Given the description of an element on the screen output the (x, y) to click on. 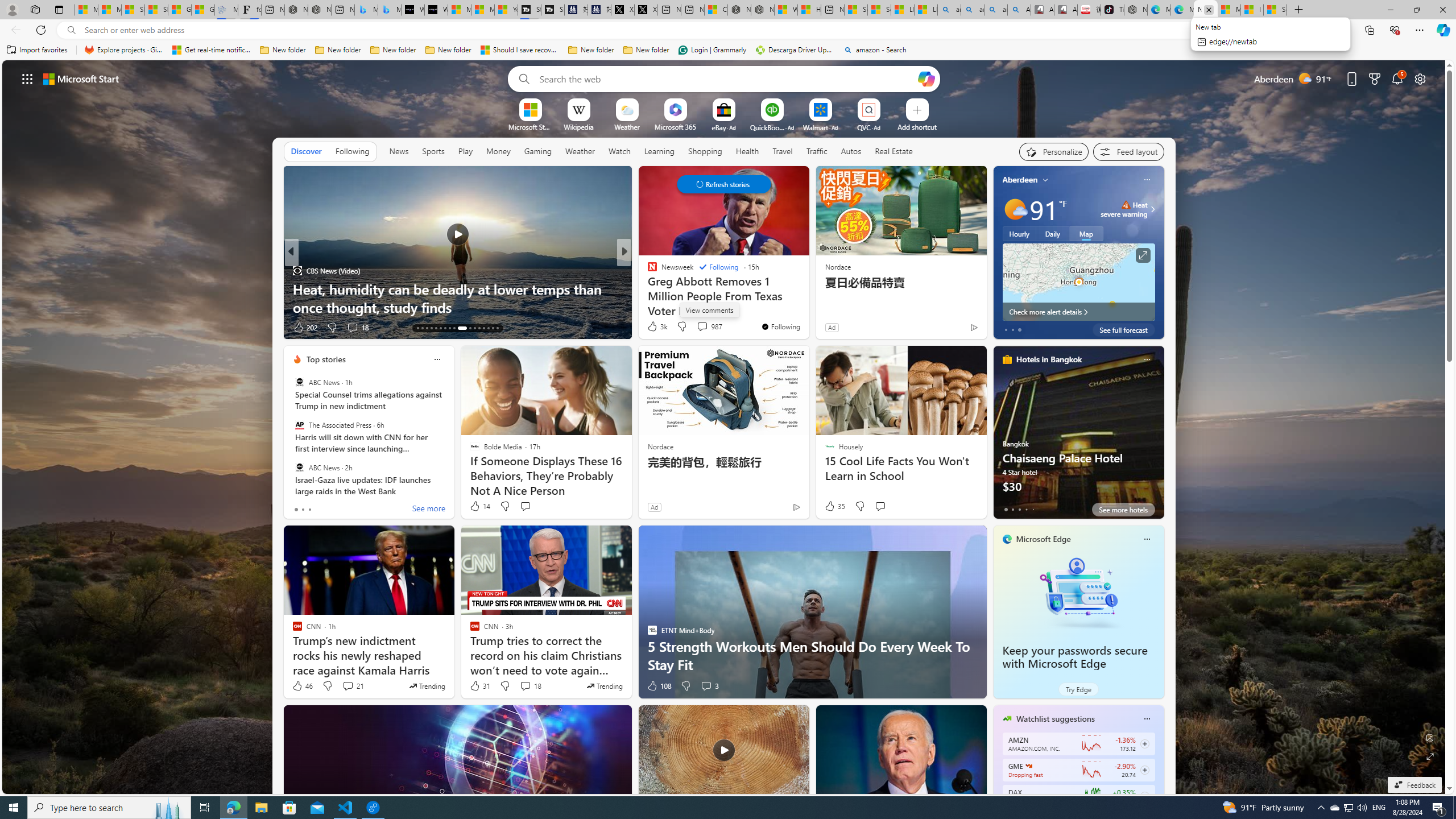
hotels-header-icon (1006, 358)
See more (795, 179)
View comments 251 Comment (6, 327)
Descarga Driver Updater (794, 49)
Close tab (1209, 9)
AutomationID: waffle (27, 78)
View comments 3 Comment (705, 685)
Split screen (1344, 29)
Try Edge (1078, 689)
Search (520, 78)
Amazon Echo Robot - Search Images (1019, 9)
Class: control (723, 184)
Streaming Coverage | T3 (529, 9)
Keep your passwords secure with Microsoft Edge (1074, 657)
